Given the description of an element on the screen output the (x, y) to click on. 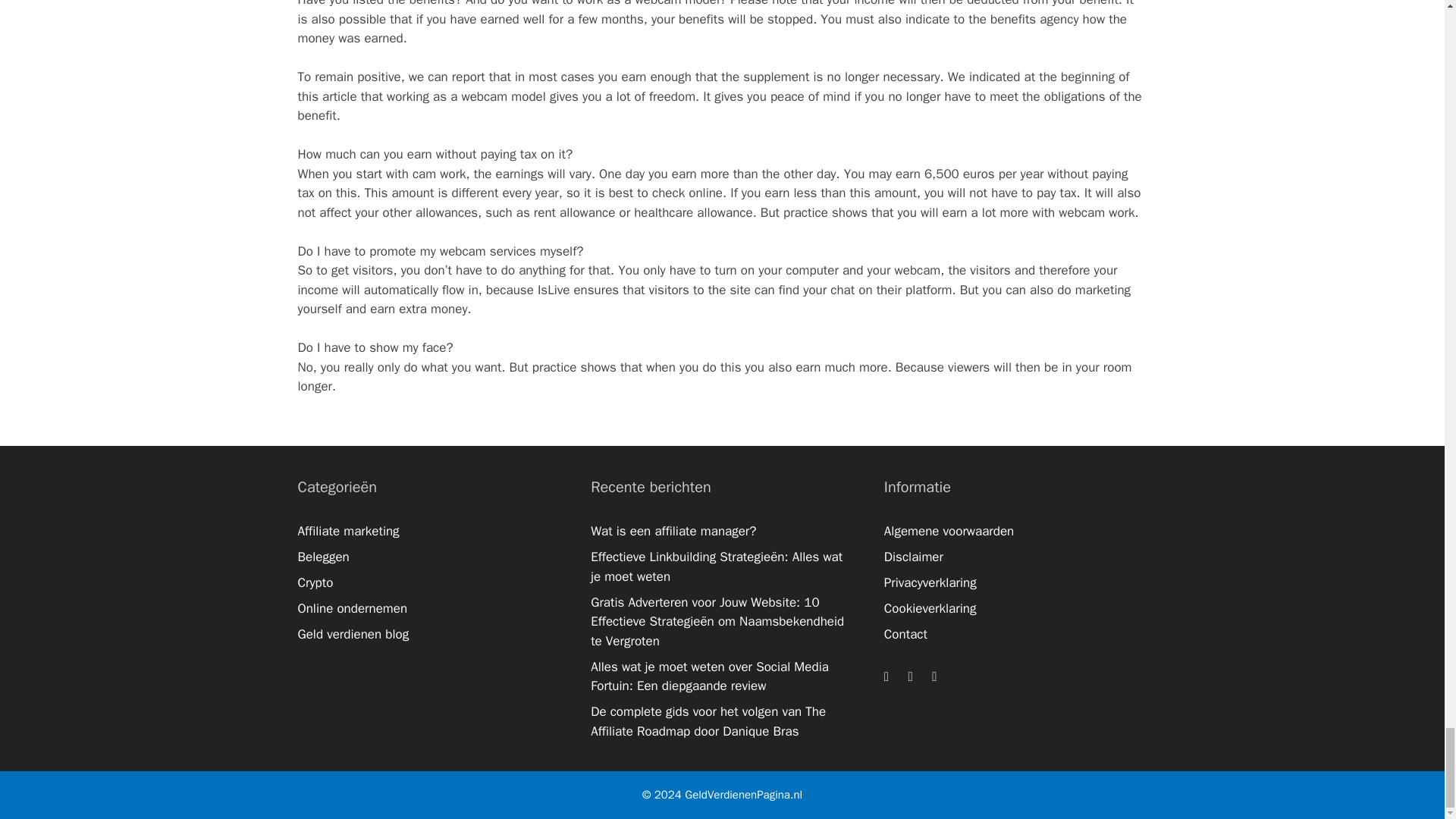
Cookieverklaring (929, 608)
Algemene voorwaarden (948, 530)
Disclaimer (913, 556)
Affiliate marketing (347, 530)
Beleggen (323, 556)
Crypto (315, 582)
Privacyverklaring (929, 582)
Wat is een affiliate manager? (673, 530)
Geld verdienen blog (353, 634)
Contact (905, 634)
Online ondernemen (352, 608)
